Given the description of an element on the screen output the (x, y) to click on. 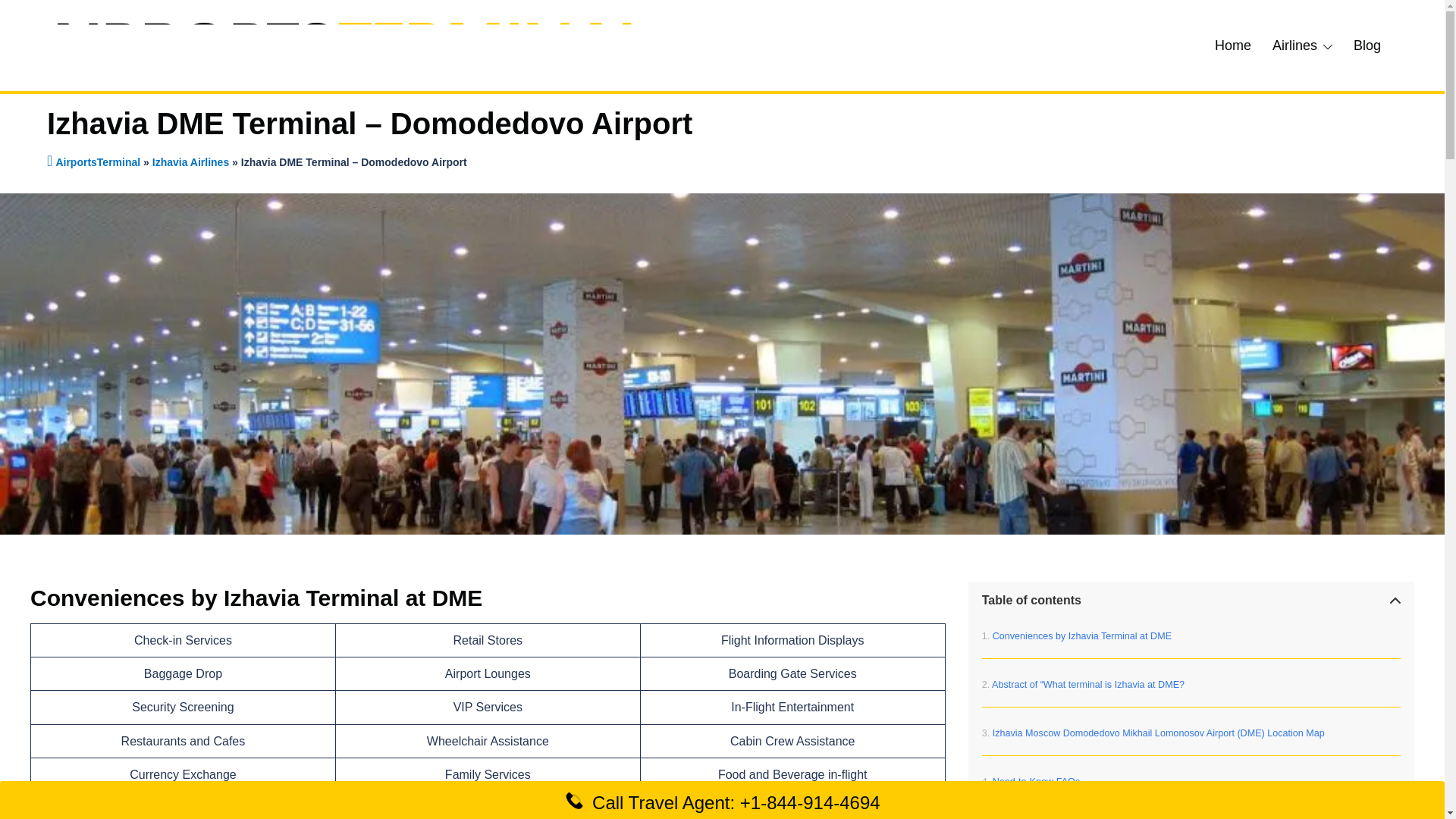
Blog (1367, 45)
airportsterminal.com (343, 43)
Home (1232, 45)
Need-to-Know FAQs (1030, 781)
Airlines (1294, 45)
Conveniences by Izhavia Terminal at DME (1076, 635)
